Given the description of an element on the screen output the (x, y) to click on. 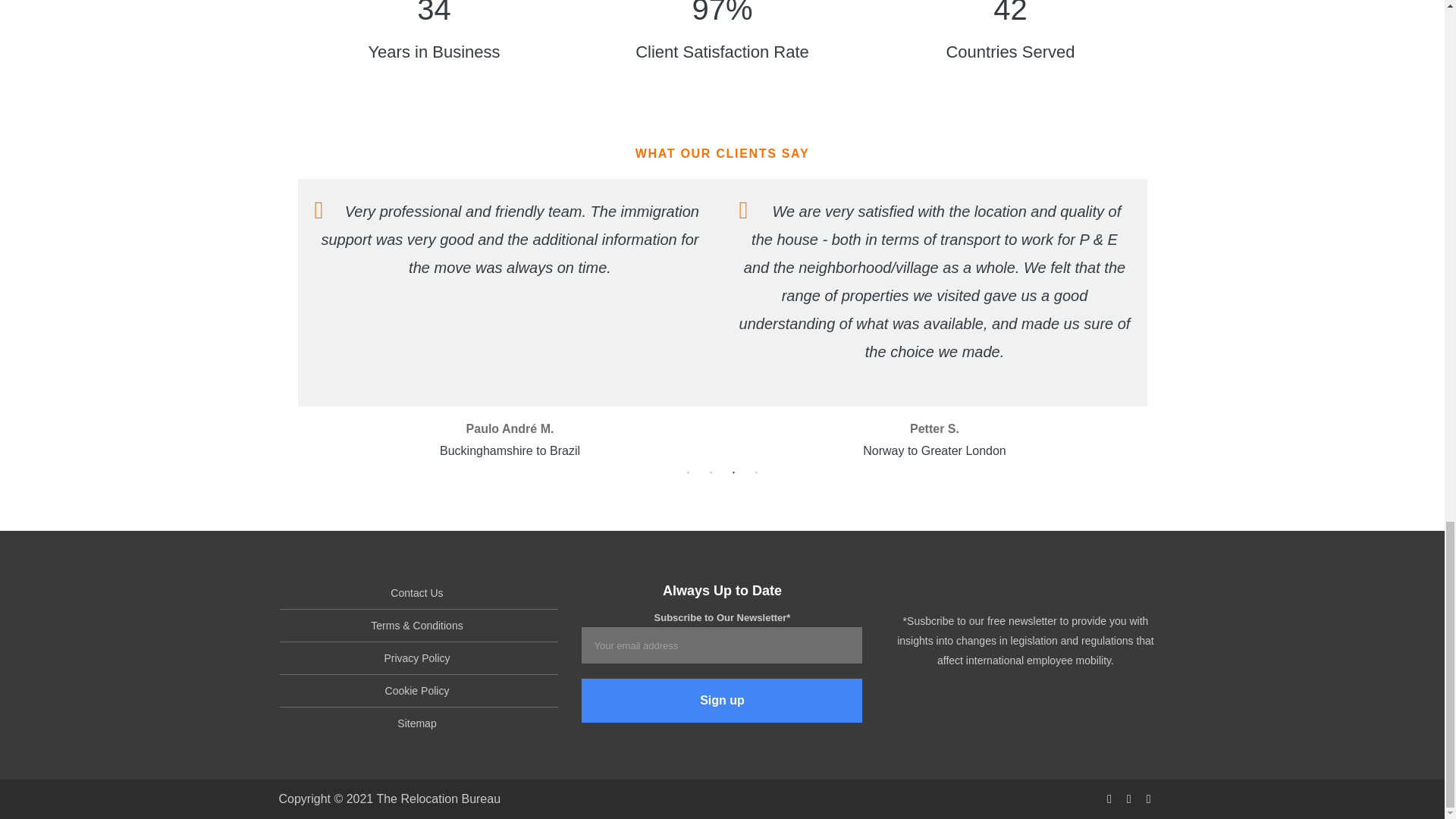
1 (688, 473)
Sign up (720, 700)
2 (711, 473)
3 (733, 473)
